Given the description of an element on the screen output the (x, y) to click on. 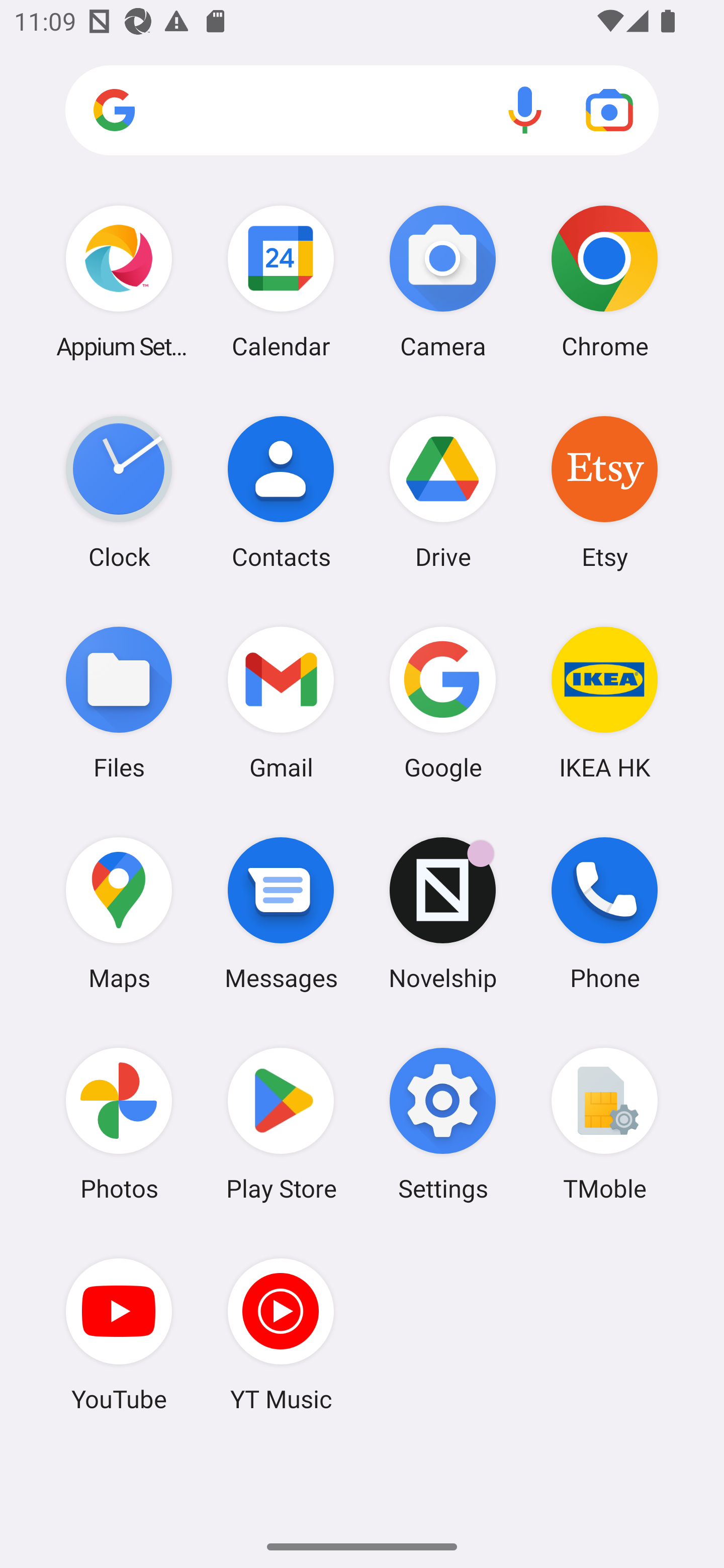
Search apps, web and more (361, 110)
Voice search (524, 109)
Google Lens (608, 109)
Appium Settings (118, 281)
Calendar (280, 281)
Camera (443, 281)
Chrome (604, 281)
Clock (118, 492)
Contacts (280, 492)
Drive (443, 492)
Etsy (604, 492)
Files (118, 702)
Gmail (280, 702)
Google (443, 702)
IKEA HK (604, 702)
Maps (118, 913)
Messages (280, 913)
Novelship Novelship has 2 notifications (443, 913)
Phone (604, 913)
Photos (118, 1124)
Play Store (280, 1124)
Settings (443, 1124)
TMoble (604, 1124)
YouTube (118, 1334)
YT Music (280, 1334)
